Given the description of an element on the screen output the (x, y) to click on. 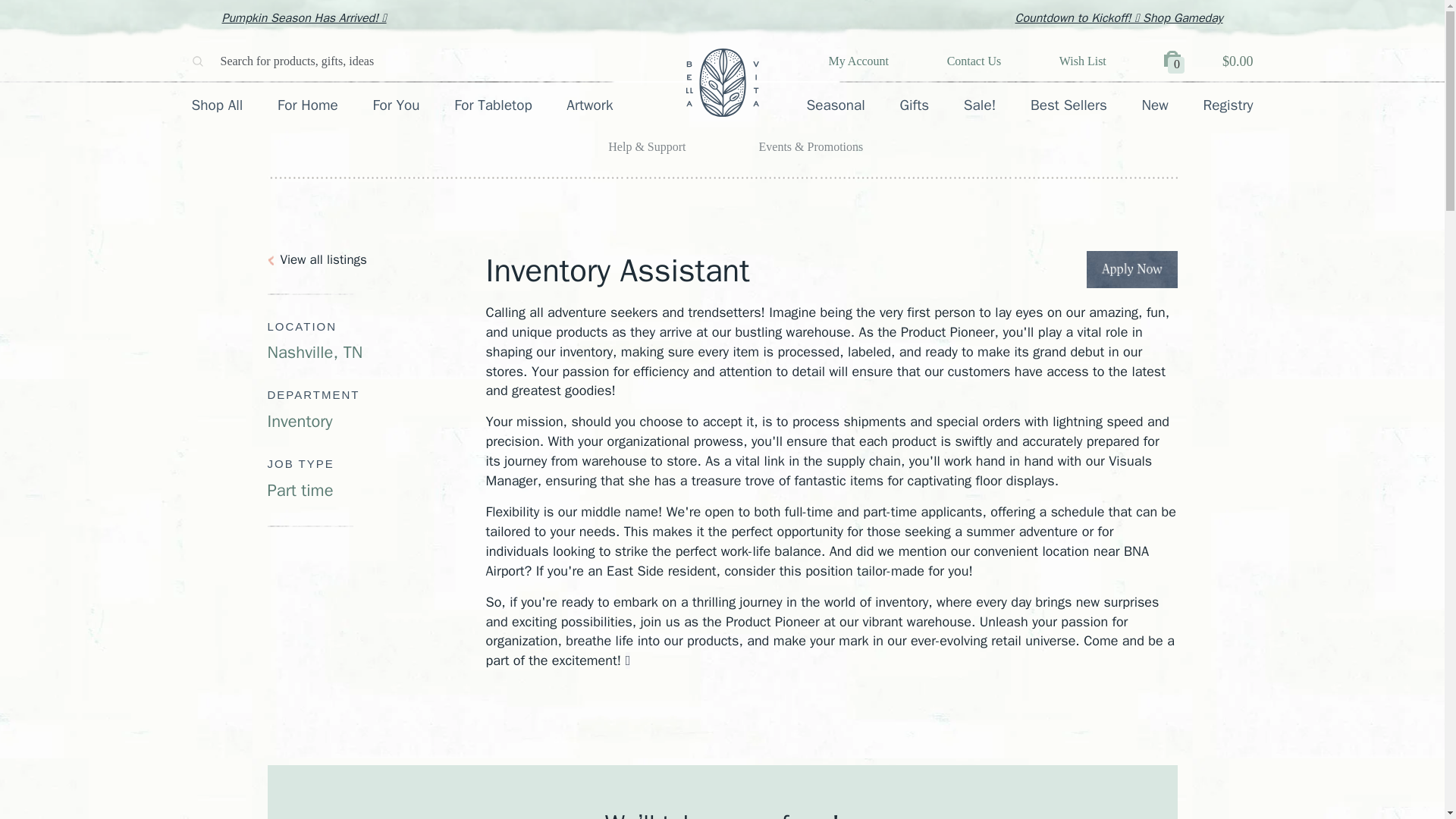
Wish List (1082, 60)
Shop All (216, 105)
Contact Us (974, 60)
Cart (1175, 62)
Career location (375, 341)
0 (1175, 62)
Contact Us (974, 60)
My Account (858, 60)
Logo (721, 82)
Job type (375, 478)
